Given the description of an element on the screen output the (x, y) to click on. 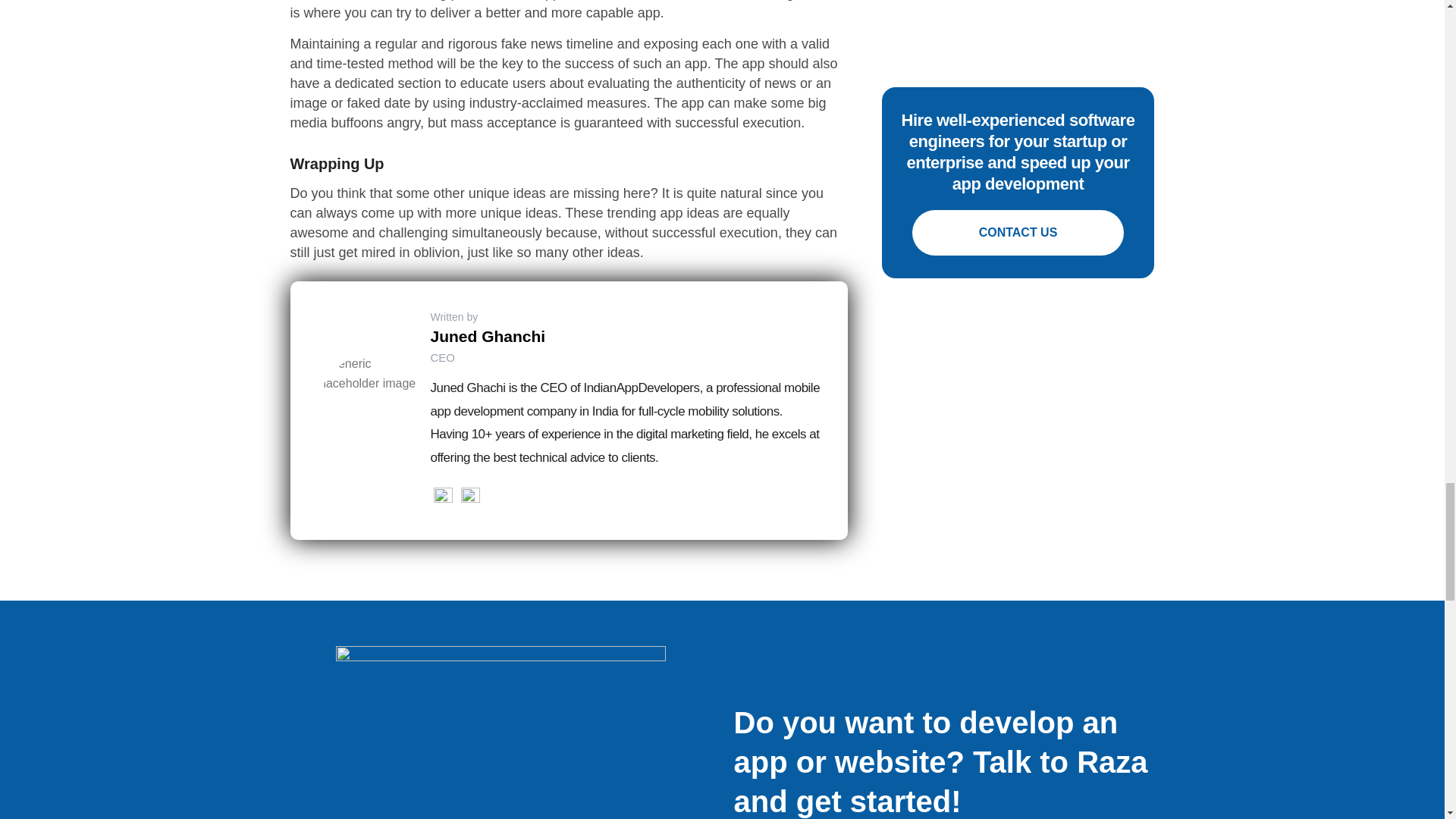
Facebook (470, 496)
LinkedIn (442, 496)
Juned Ghanchi (488, 335)
